Given the description of an element on the screen output the (x, y) to click on. 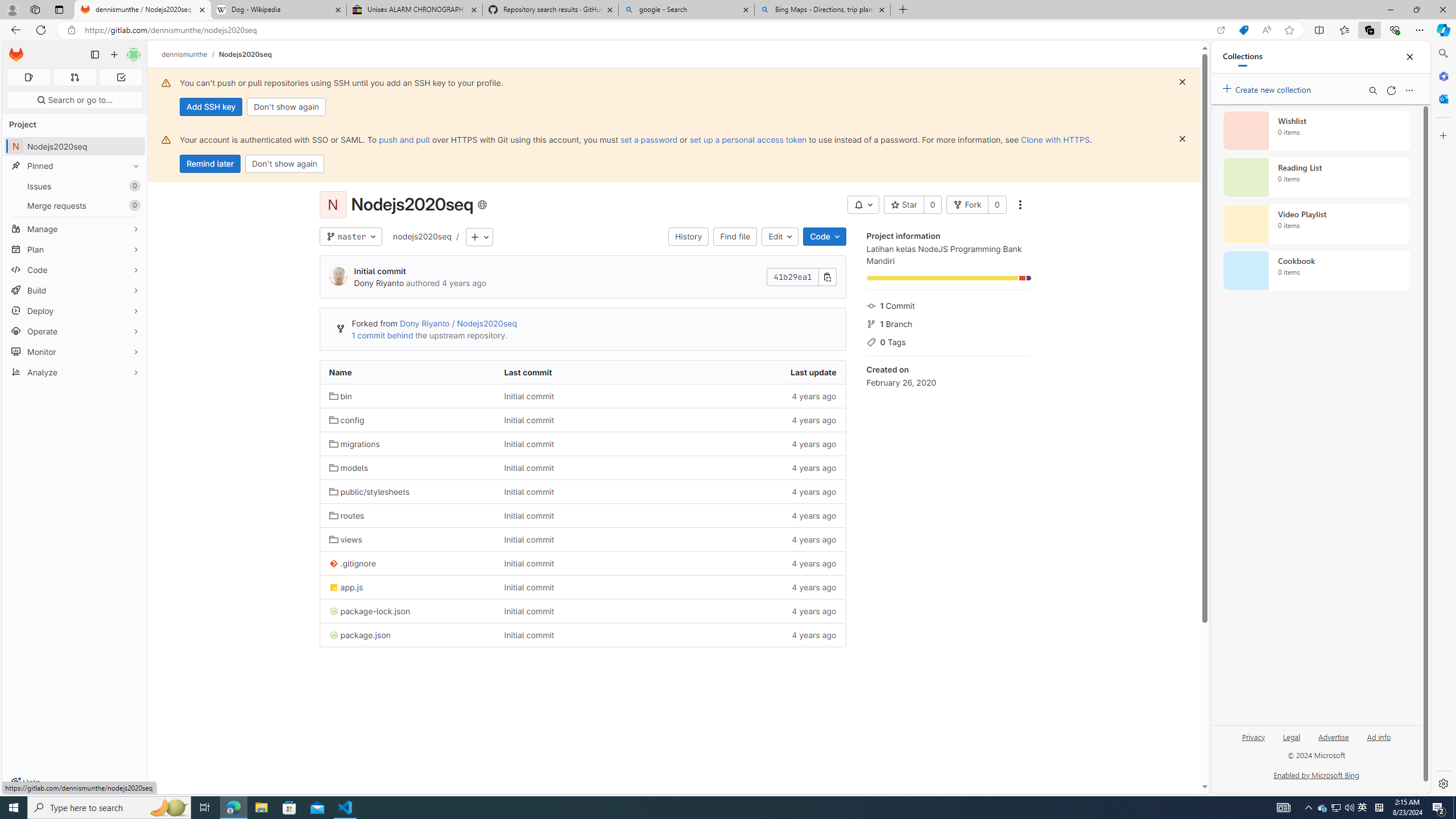
Unpin Issues (132, 186)
Merge requests 0 (74, 76)
Dony Riyanto's avatar (338, 276)
Class: s16 icon gl-mr-3 gl-text-gray-500 (871, 342)
Privacy (1252, 741)
Nodejs2020seq (245, 53)
Assigned issues 0 (28, 76)
Nodejs2020seq (245, 53)
Build (74, 289)
Cookbook collection, 0 items (1316, 270)
Monitor (74, 351)
Manage (74, 228)
